Given the description of an element on the screen output the (x, y) to click on. 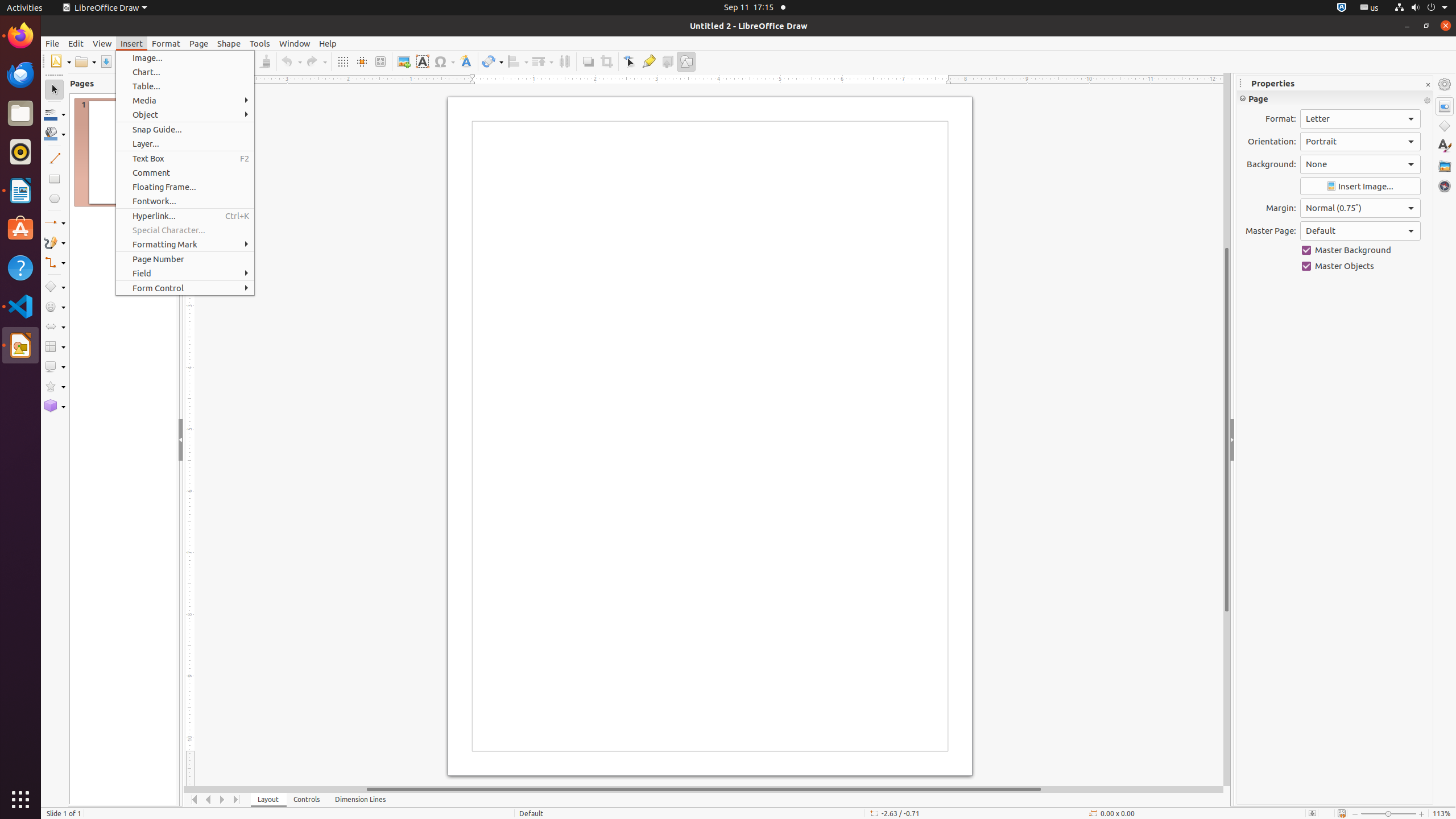
Object Element type: menu (185, 114)
Select Element type: push-button (53, 89)
LibreOffice Draw Element type: menu (103, 7)
Arrange Element type: push-button (542, 61)
3D Objects Element type: push-button (54, 406)
